Given the description of an element on the screen output the (x, y) to click on. 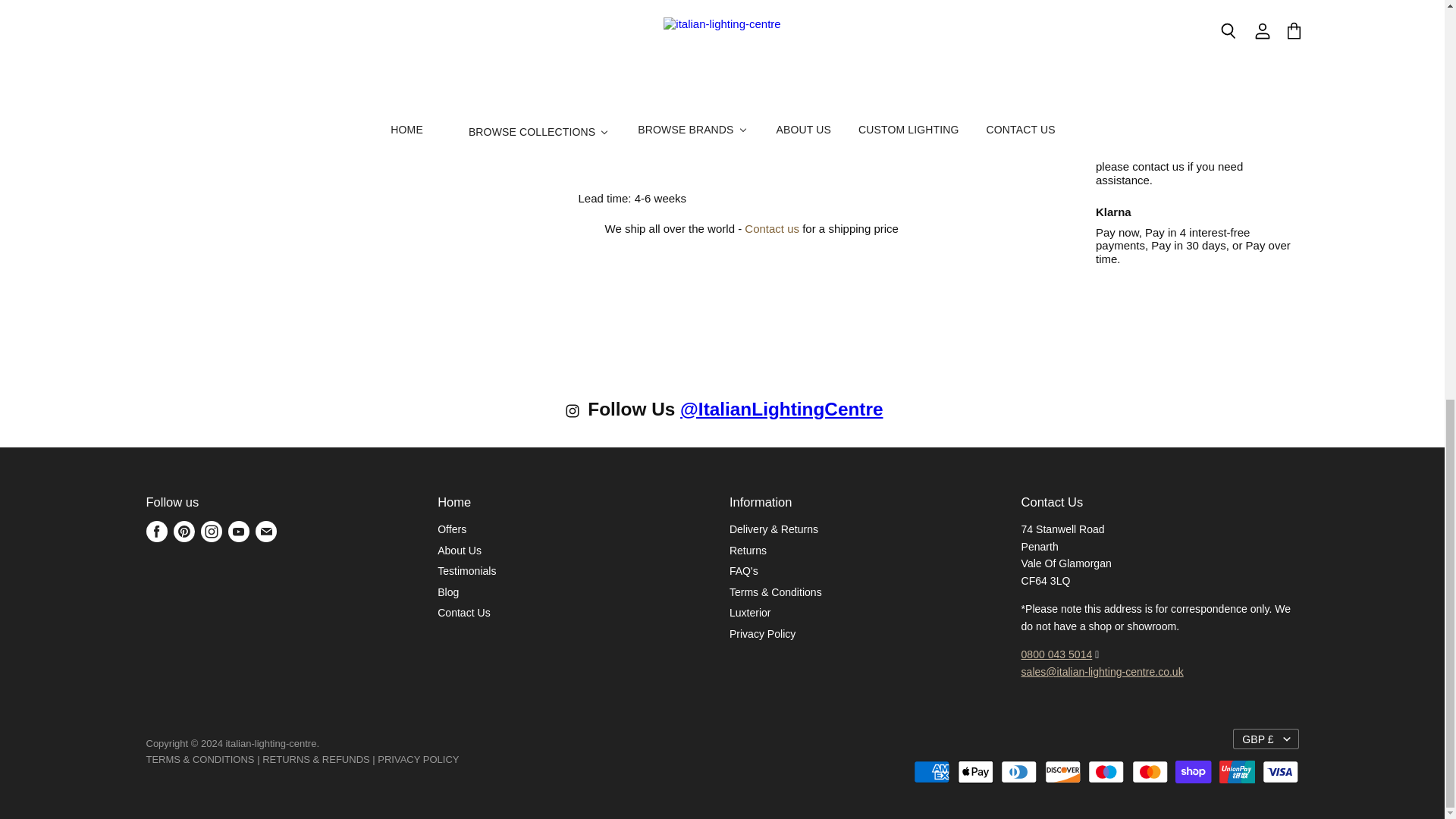
Instagram (575, 414)
Facebook (156, 531)
Instagram (210, 531)
E-mail (265, 531)
Pinterest (183, 531)
Youtube (237, 531)
